Given the description of an element on the screen output the (x, y) to click on. 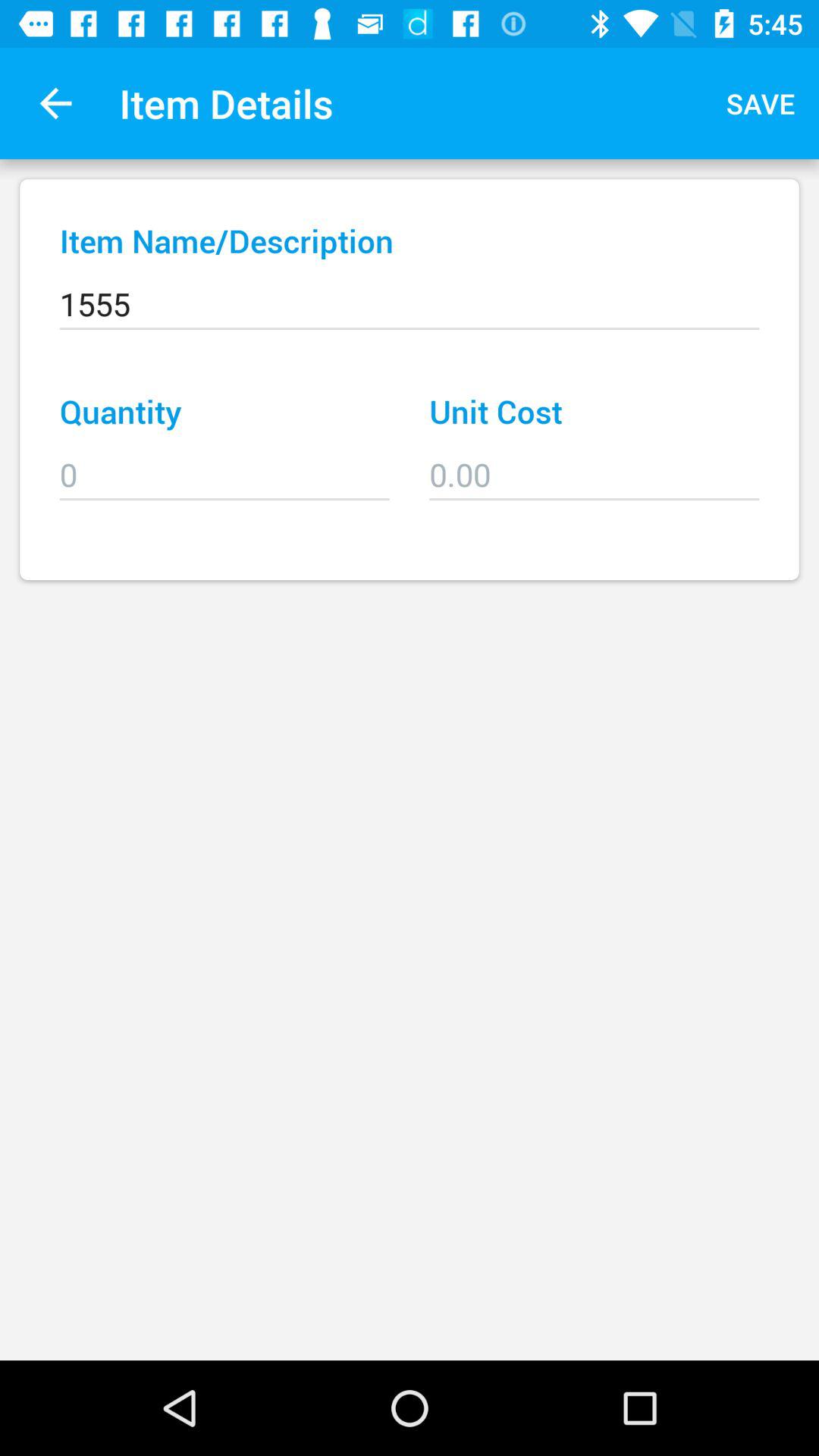
press the item next to the item details app (55, 103)
